Given the description of an element on the screen output the (x, y) to click on. 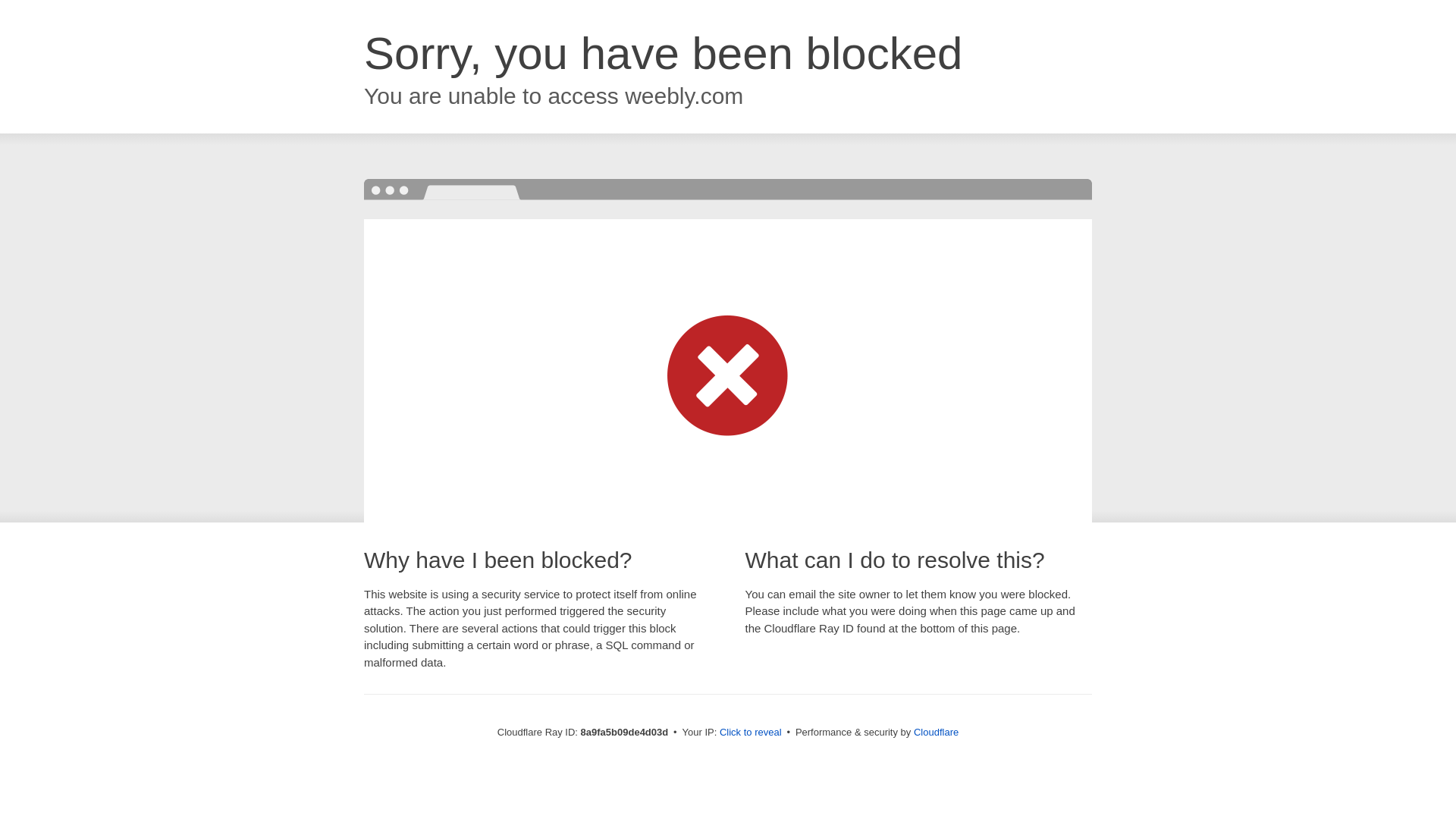
Click to reveal (750, 732)
Cloudflare (936, 731)
